Given the description of an element on the screen output the (x, y) to click on. 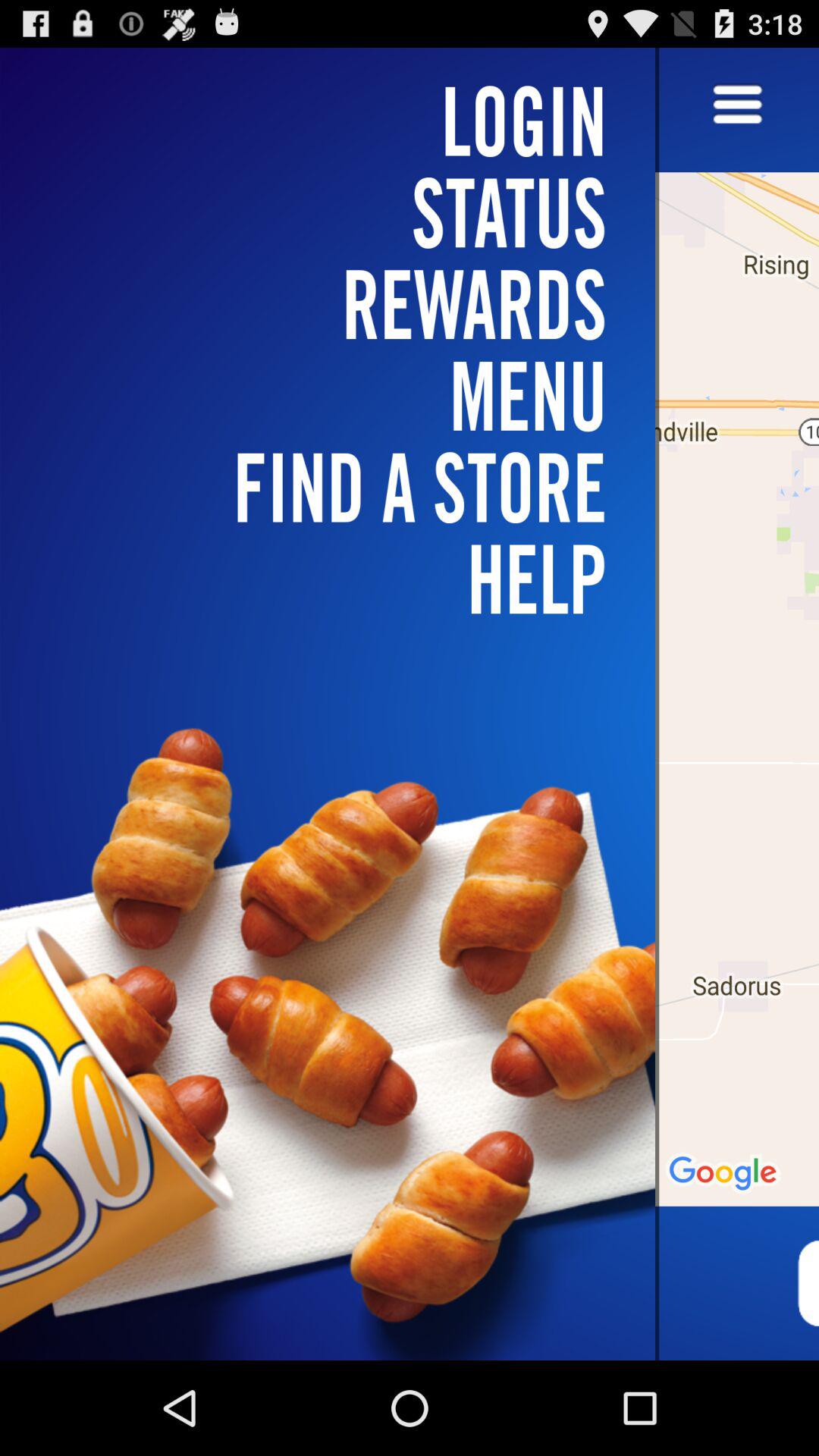
choose the item below the rewards icon (336, 486)
